Given the description of an element on the screen output the (x, y) to click on. 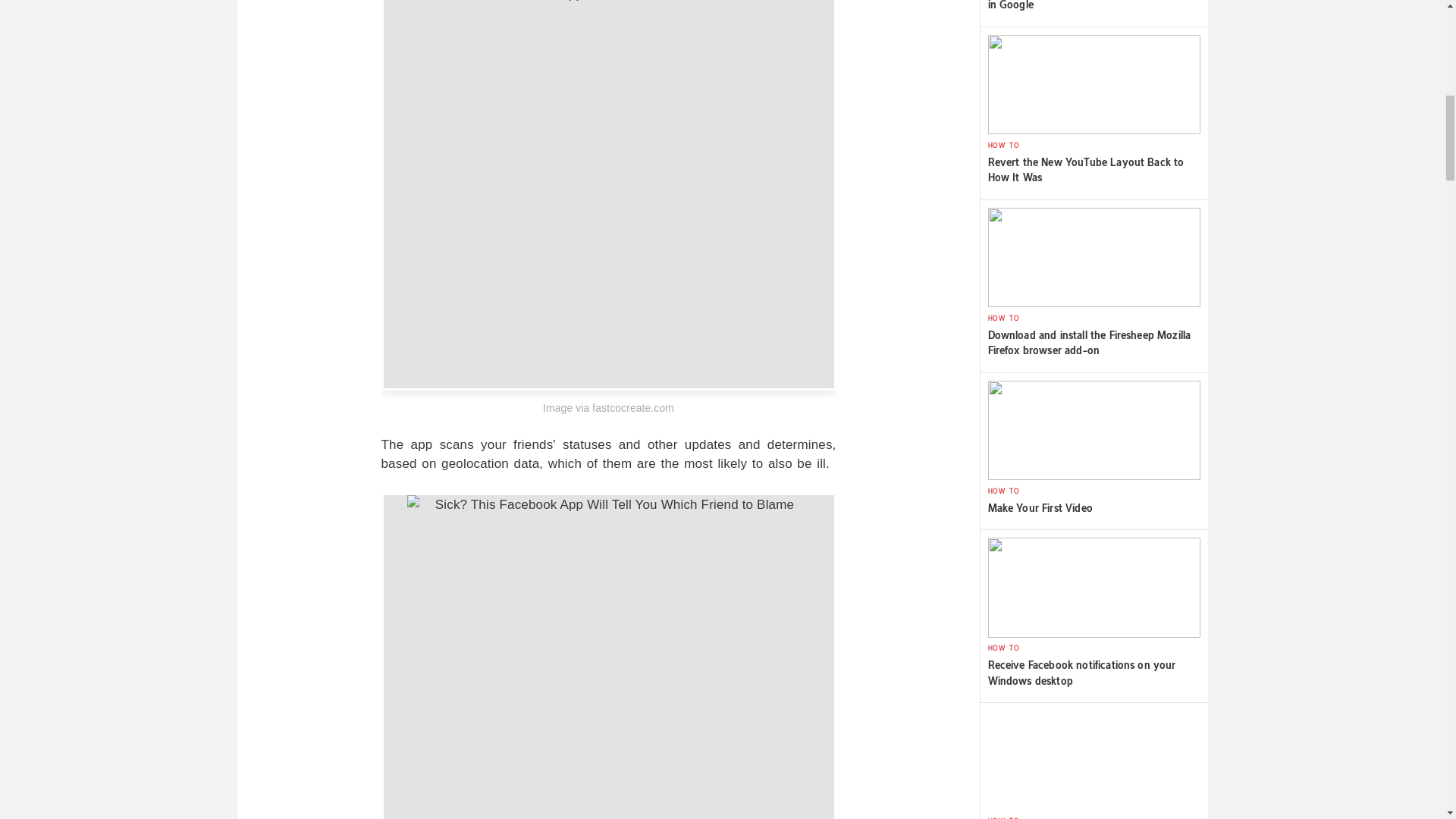
fastcocreate.com (633, 408)
